Given the description of an element on the screen output the (x, y) to click on. 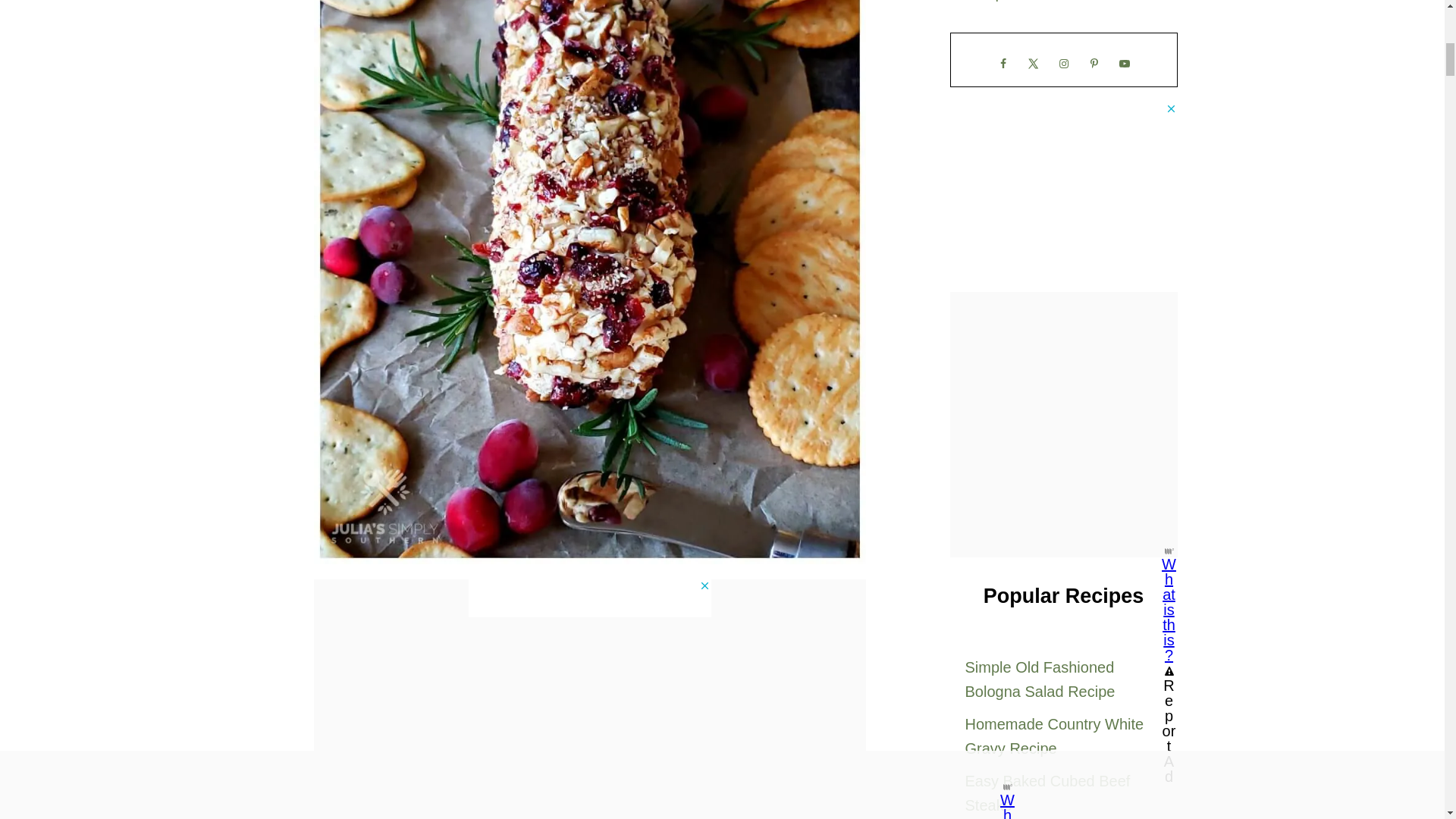
Follow on Pinterest (1093, 63)
Follow on Facebook (1002, 63)
3rd party ad content (589, 598)
Follow on YouTube (1123, 63)
Follow on X (1032, 63)
Follow on Instagram (1063, 63)
